Given the description of an element on the screen output the (x, y) to click on. 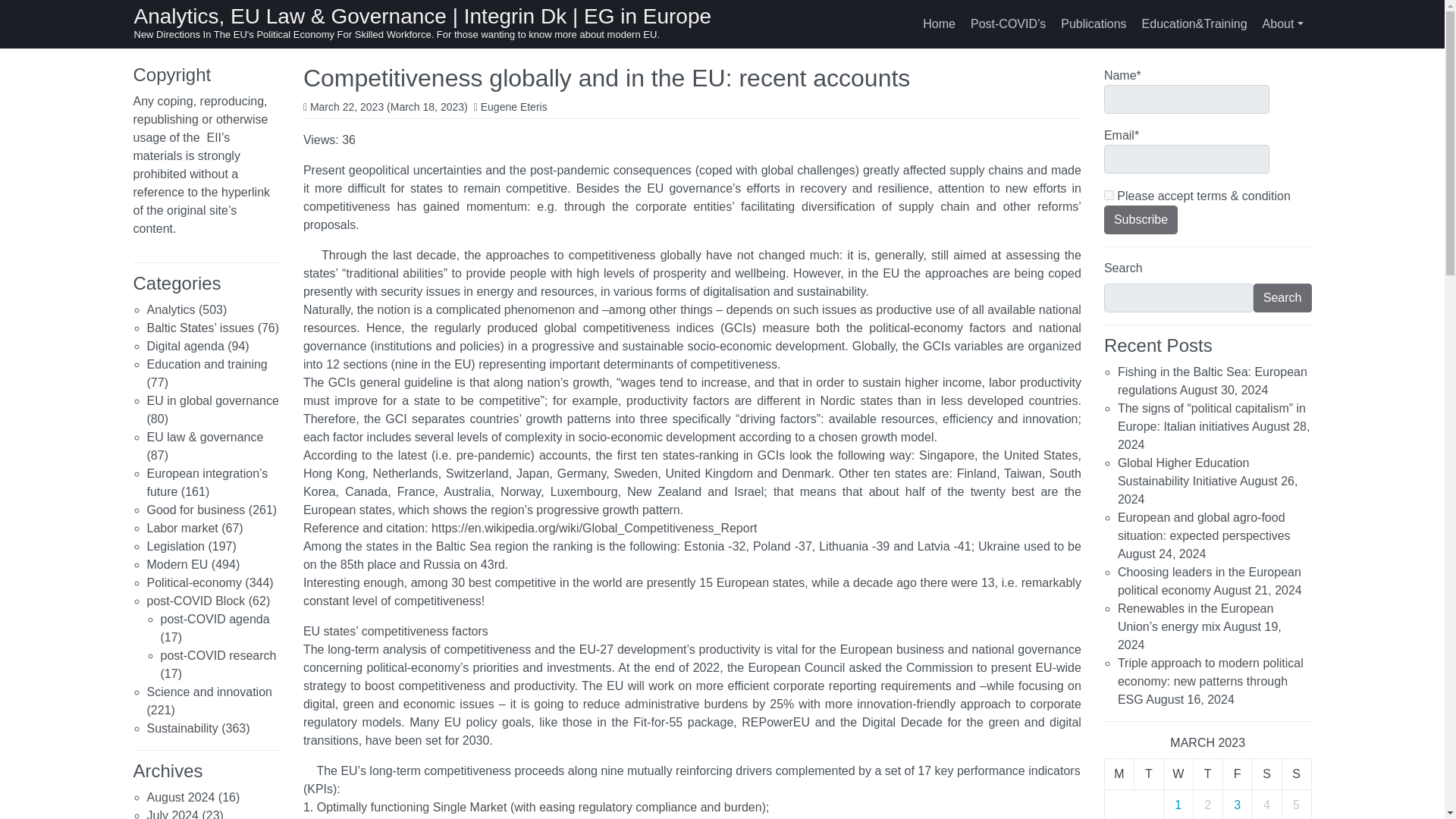
EU in global governance (213, 400)
Modern EU (177, 563)
Subscribe (1140, 219)
Tuesday (1148, 773)
Political-economy (194, 582)
Skip to content (17, 14)
Thursday (1207, 773)
Good for business (196, 509)
true (1108, 194)
post-COVID Block (196, 600)
